Given the description of an element on the screen output the (x, y) to click on. 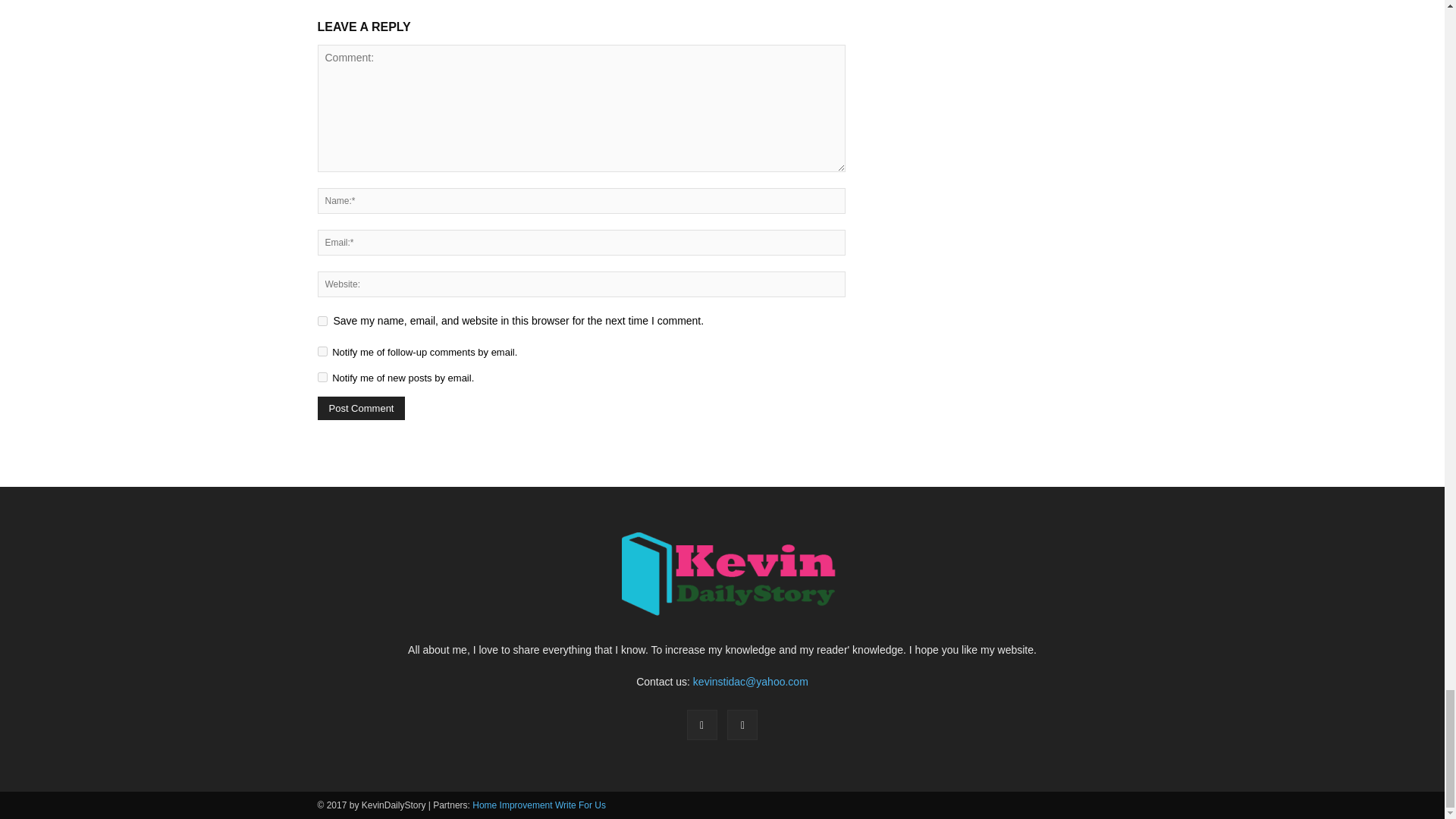
subscribe (321, 377)
subscribe (321, 351)
yes (321, 320)
Post Comment (360, 408)
